Given the description of an element on the screen output the (x, y) to click on. 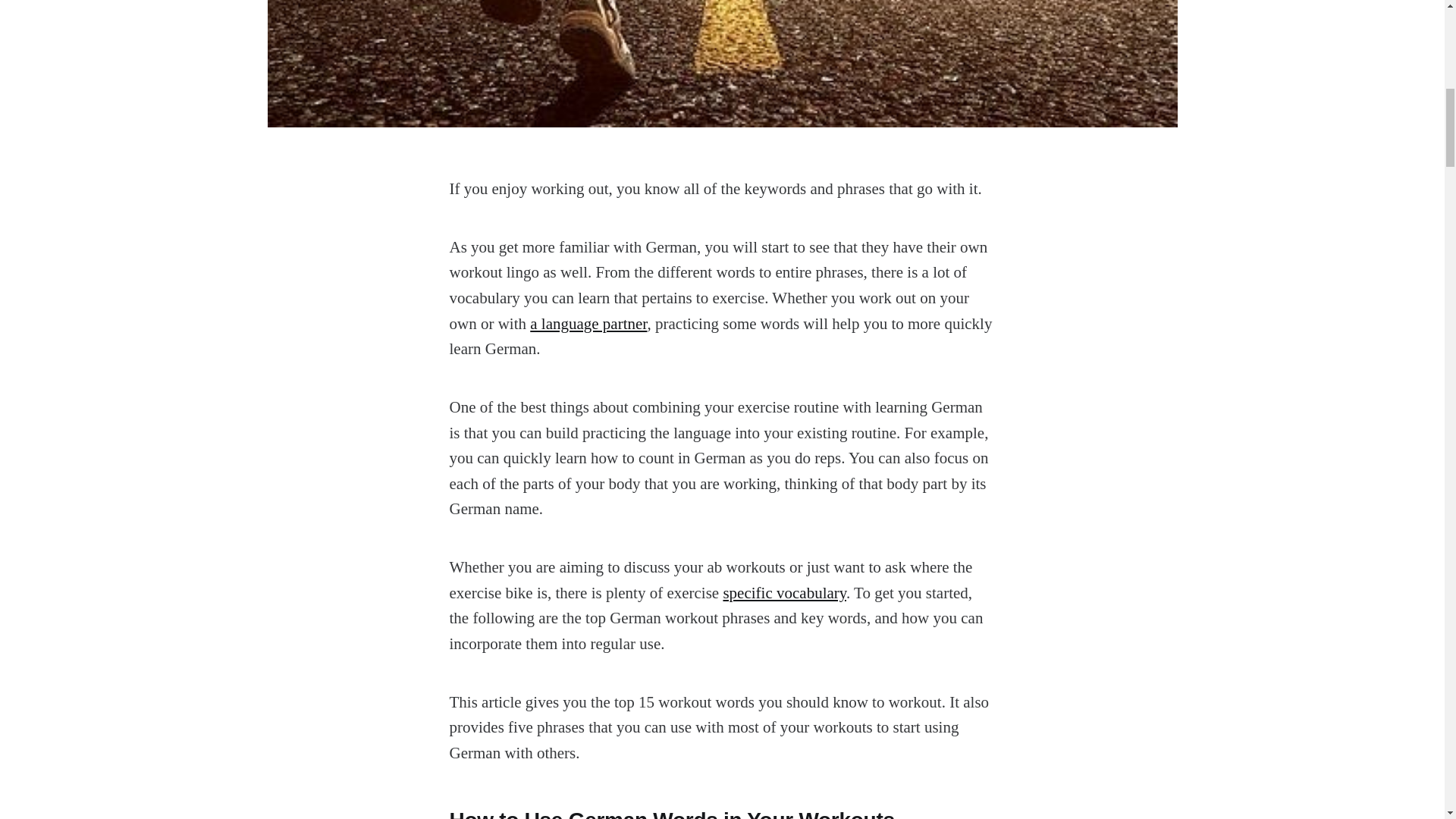
a language partner (587, 323)
specific vocabulary (783, 592)
